Given the description of an element on the screen output the (x, y) to click on. 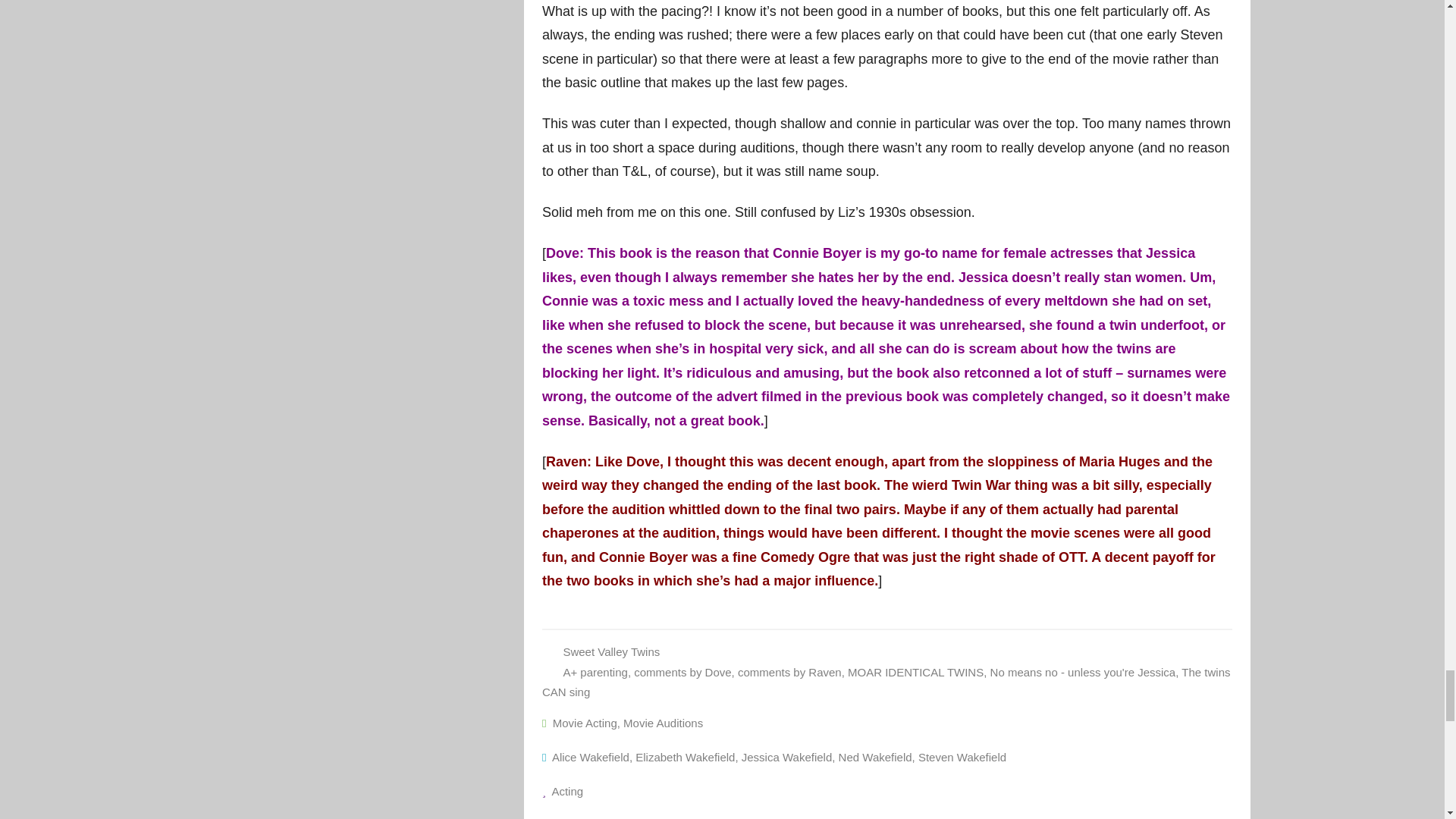
Movie Acting (585, 722)
Ned Wakefield (875, 757)
Movie Auditions (663, 722)
Steven Wakefield (962, 757)
No means no - unless you're Jessica (1083, 671)
The twins CAN sing (885, 681)
Sweet Valley Twins (610, 651)
comments by Dove (681, 671)
Jessica Wakefield (786, 757)
Elizabeth Wakefield (684, 757)
